Given the description of an element on the screen output the (x, y) to click on. 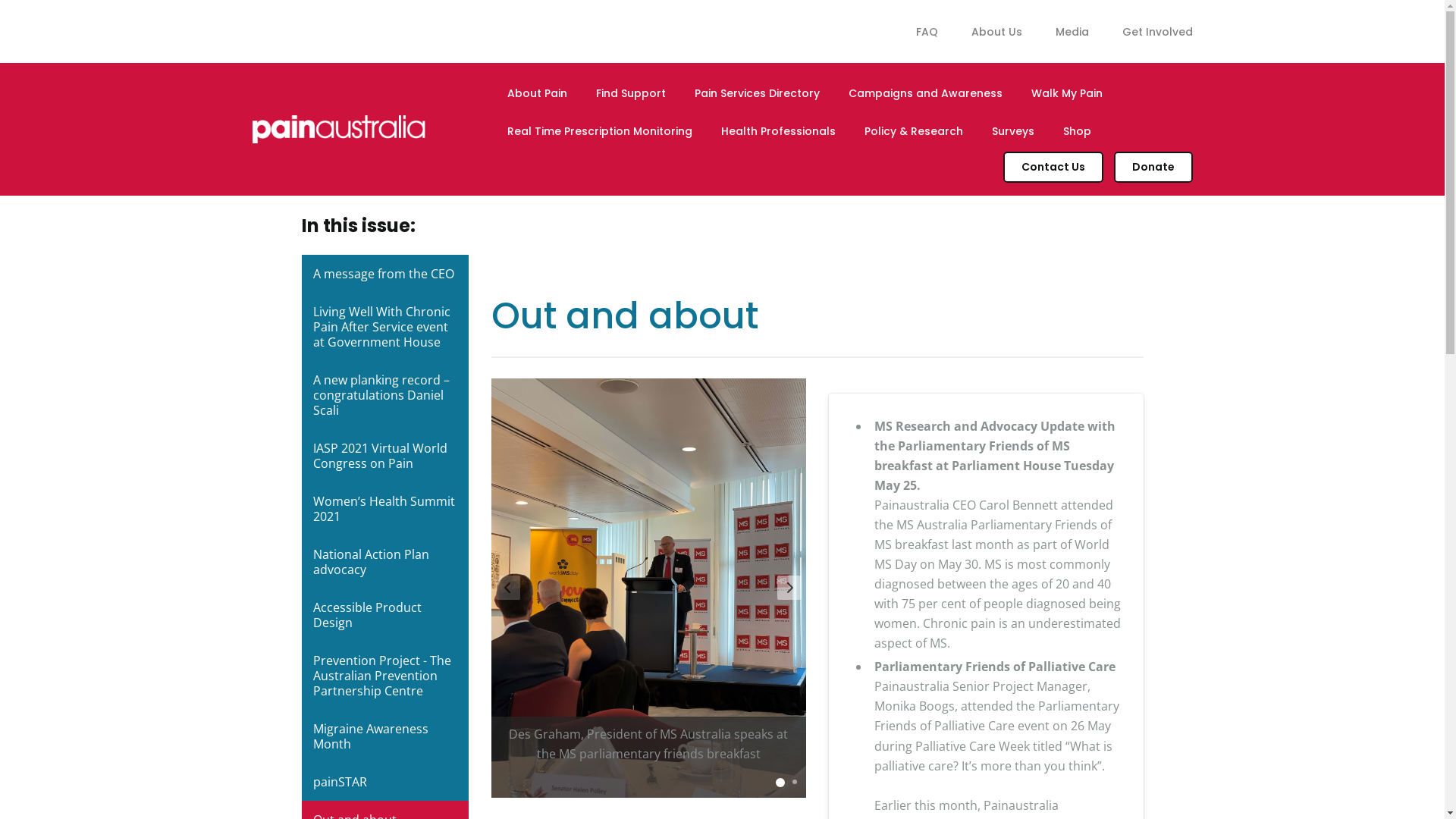
National Action Plan advocacy Element type: text (384, 561)
FAQ Element type: text (926, 31)
About Pain Element type: text (536, 93)
Policy & Research Element type: text (913, 131)
painSTAR Element type: text (384, 781)
About Us Element type: text (995, 31)
Accessible Product Design Element type: text (384, 614)
Migraine Awareness Month Element type: text (384, 735)
Find Support Element type: text (630, 93)
A message from the CEO Element type: text (384, 273)
Surveys Element type: text (1012, 131)
Donate Element type: text (1152, 166)
Walk My Pain Element type: text (1066, 93)
Campaigns and Awareness Element type: text (925, 93)
Pain Services Directory Element type: text (757, 93)
Get Involved Element type: text (1148, 31)
Health Professionals Element type: text (778, 131)
Media Element type: text (1071, 31)
Contact Us Element type: text (1052, 166)
Shop Element type: text (1076, 131)
Real Time Prescription Monitoring Element type: text (599, 131)
IASP 2021 Virtual World Congress on Pain Element type: text (384, 455)
